Given the description of an element on the screen output the (x, y) to click on. 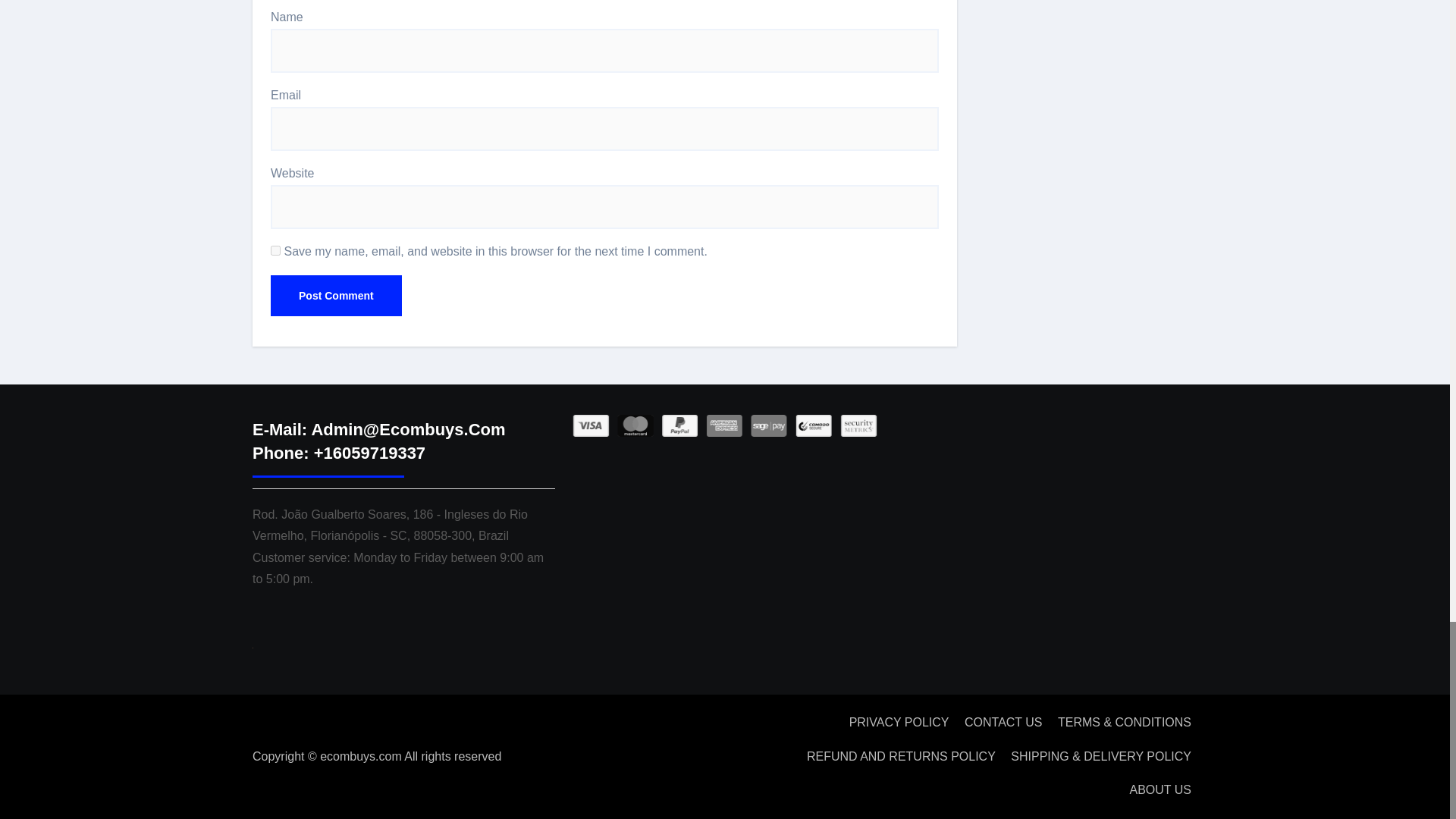
Post Comment (335, 295)
REFUND AND RETURNS POLICY (900, 756)
PRIVACY POLICY (899, 722)
CONTACT US (1003, 722)
yes (275, 250)
